Given the description of an element on the screen output the (x, y) to click on. 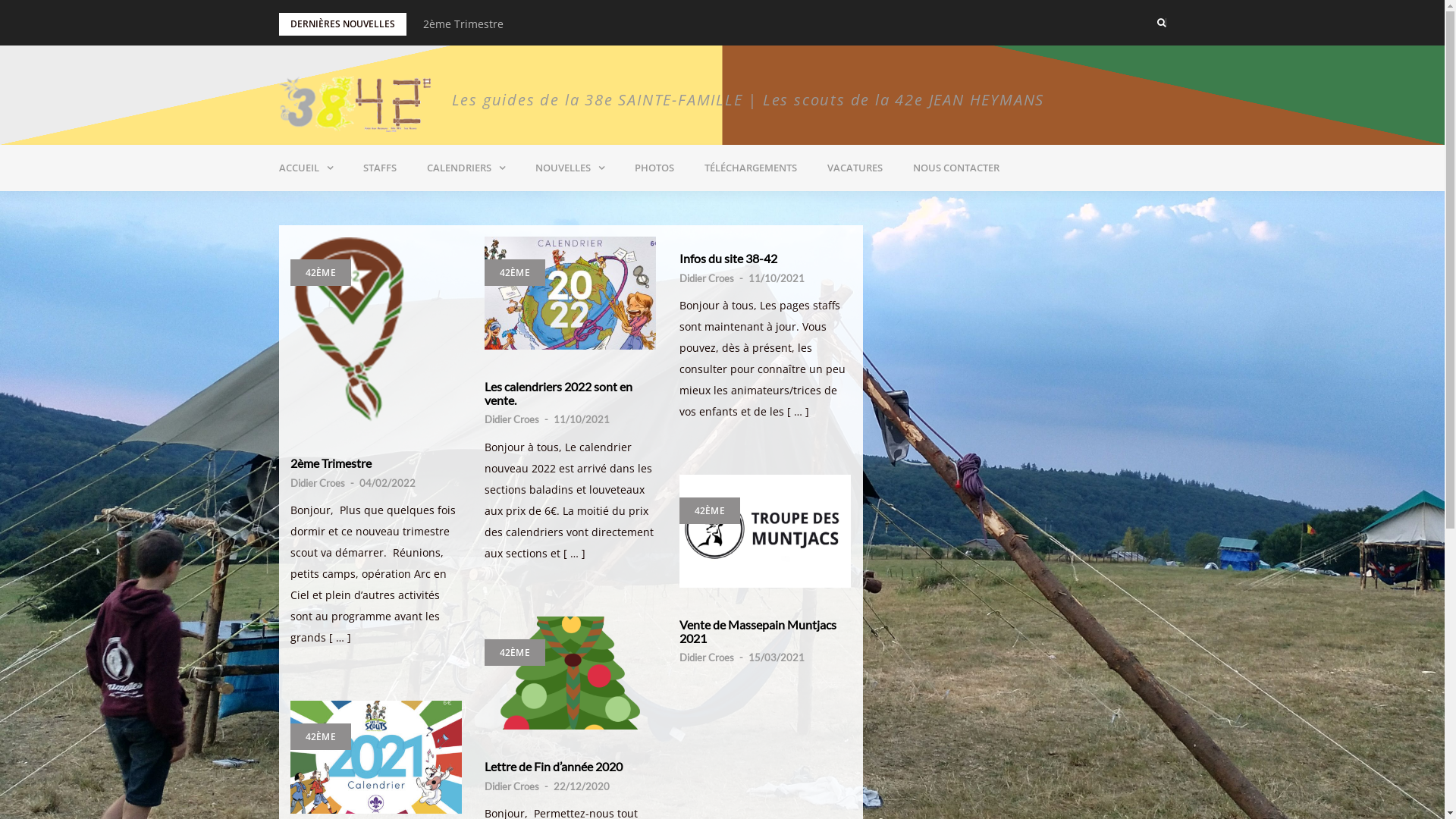
Skip to content Element type: text (0, 0)
Les calendriers 2022 sont en vente. Element type: text (512, 23)
NOUS CONTACTER Element type: text (955, 167)
CALENDRIERS Element type: text (465, 167)
Didier Croes Element type: text (706, 657)
NOUVELLES Element type: text (569, 167)
11/10/2021 Element type: text (581, 419)
Les calendriers 2022 sont en vente. Element type: text (569, 392)
VACATURES Element type: text (854, 167)
ACCUEIL Element type: text (305, 167)
11/10/2021 Element type: text (775, 278)
Didier Croes Element type: text (510, 786)
15/03/2021 Element type: text (775, 657)
Didier Croes Element type: text (316, 482)
Les calendriers 2022 sont en vente. Element type: hover (569, 292)
22/12/2020 Element type: text (581, 786)
STAFFS Element type: text (379, 167)
Didier Croes Element type: text (510, 419)
04/02/2022 Element type: text (387, 482)
Vente de Massepain  Muntjacs 2021 Element type: hover (765, 530)
PHOTOS Element type: text (653, 167)
Infos du site 38-42 Element type: text (765, 258)
Vente de Massepain Muntjacs 2021 Element type: text (765, 631)
Didier Croes Element type: text (706, 278)
